Given the description of an element on the screen output the (x, y) to click on. 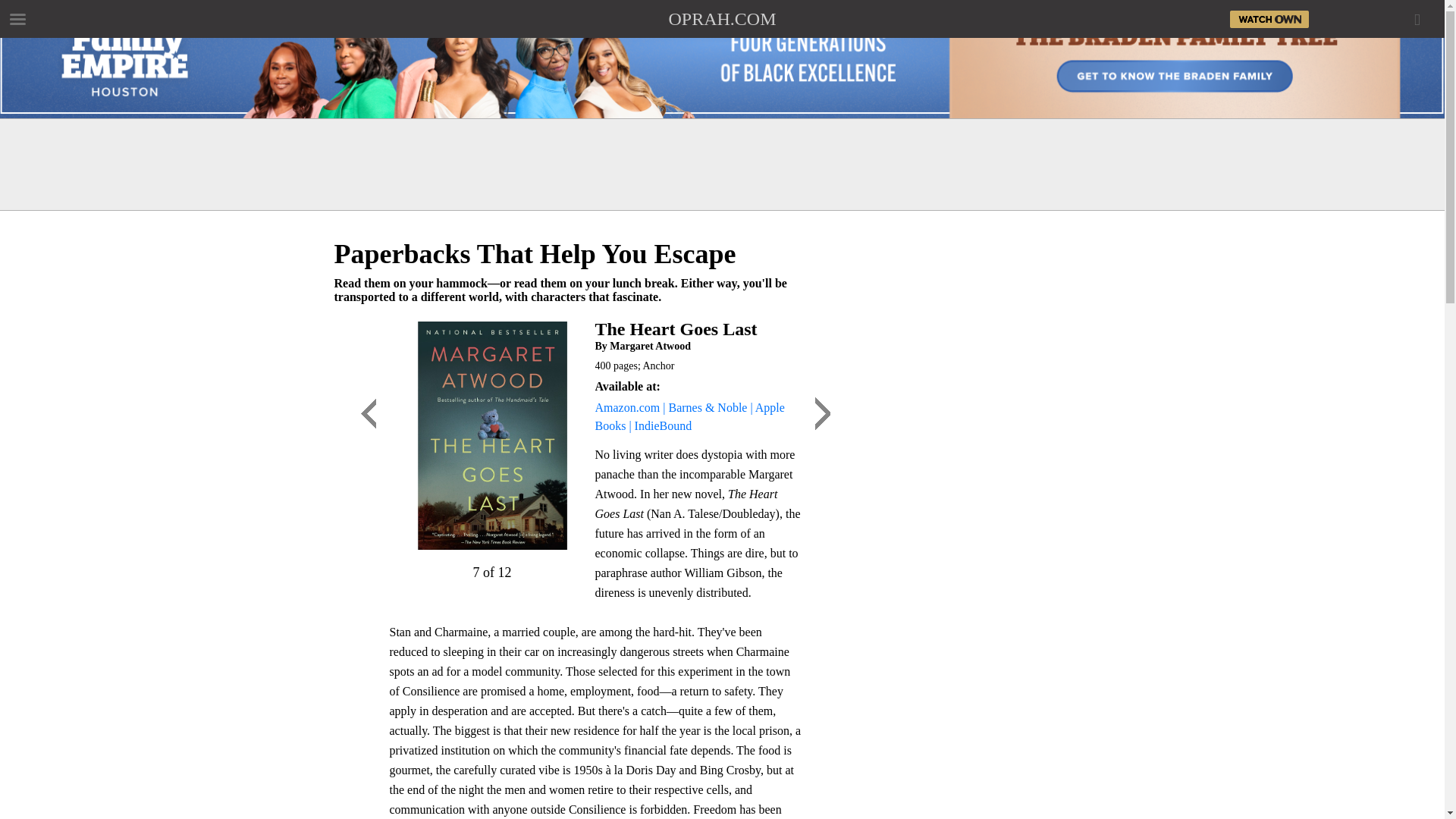
3rd party ad content (985, 337)
3rd party ad content (985, 541)
Amazon.com (626, 407)
OPRAH.COM (721, 18)
Apple Books (689, 416)
IndieBound (663, 425)
3rd party ad content (721, 164)
